Given the description of an element on the screen output the (x, y) to click on. 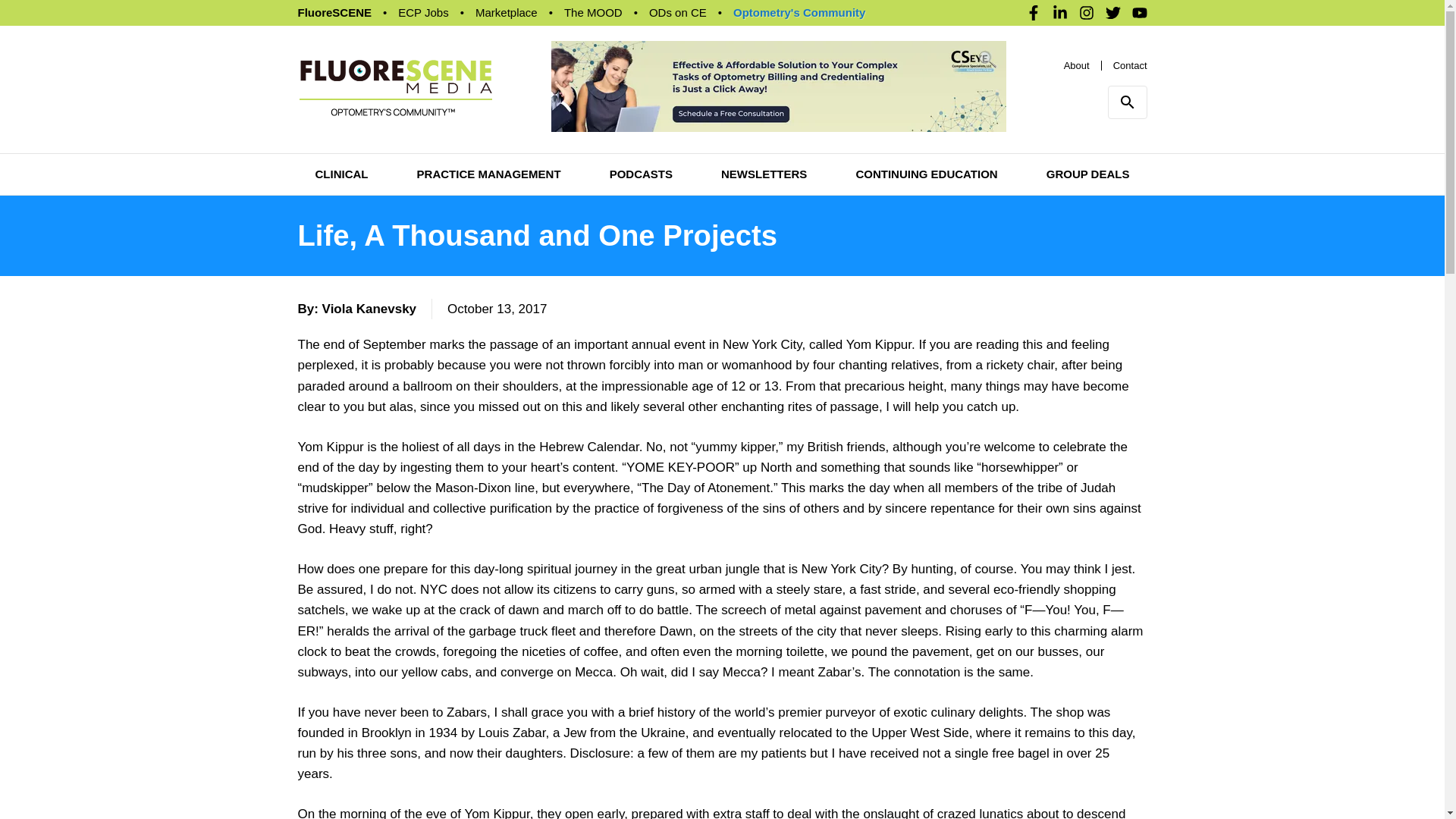
About (1076, 45)
CLINICAL (341, 135)
NEWSLETTERS (763, 135)
Contact (1130, 45)
PODCASTS (641, 135)
The MOOD (593, 11)
Marketplace (506, 11)
GROUP DEALS (1088, 135)
CONTINUING EDUCATION (926, 135)
PRACTICE MANAGEMENT (488, 135)
